Given the description of an element on the screen output the (x, y) to click on. 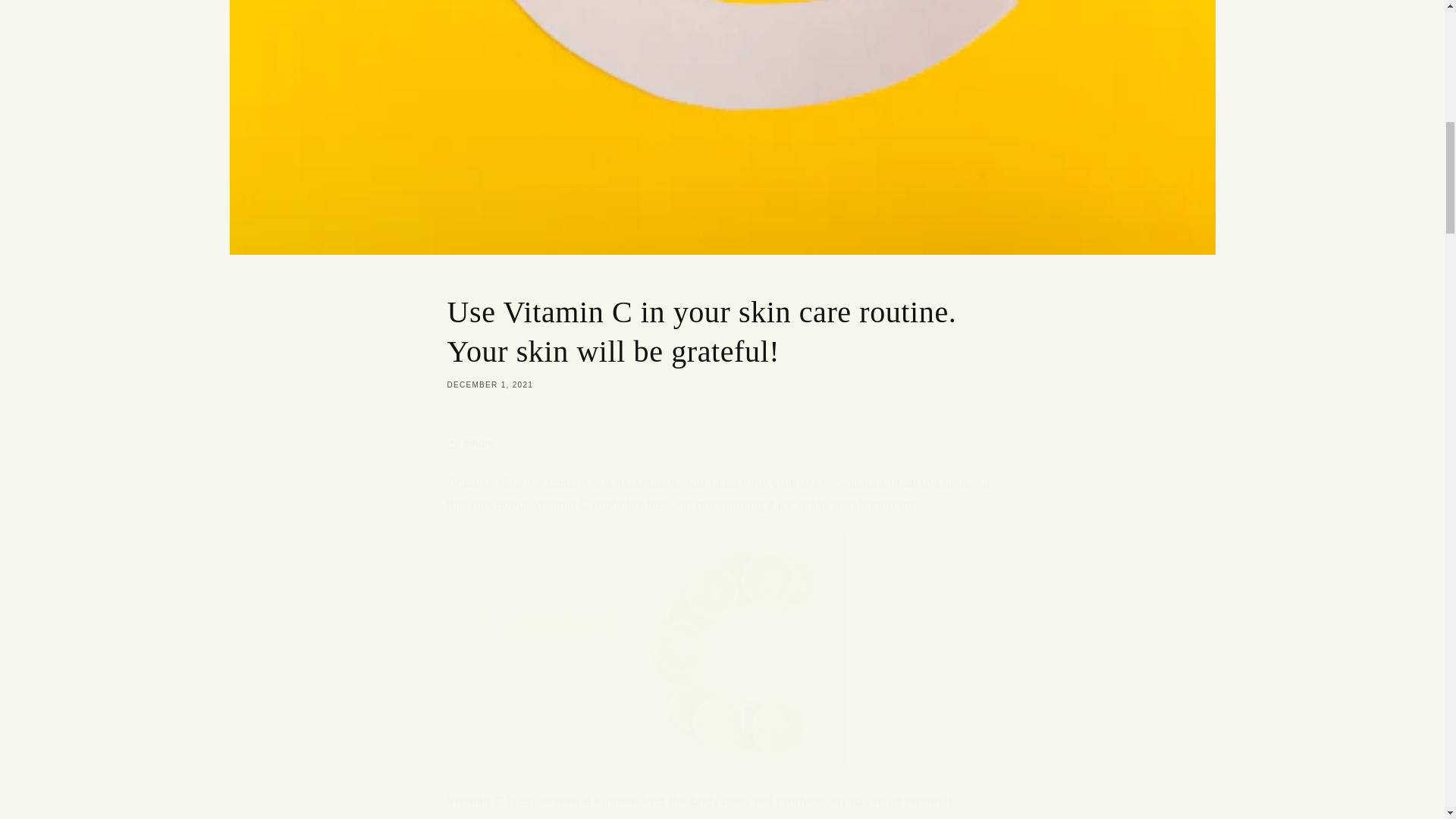
Share (721, 444)
